Given the description of an element on the screen output the (x, y) to click on. 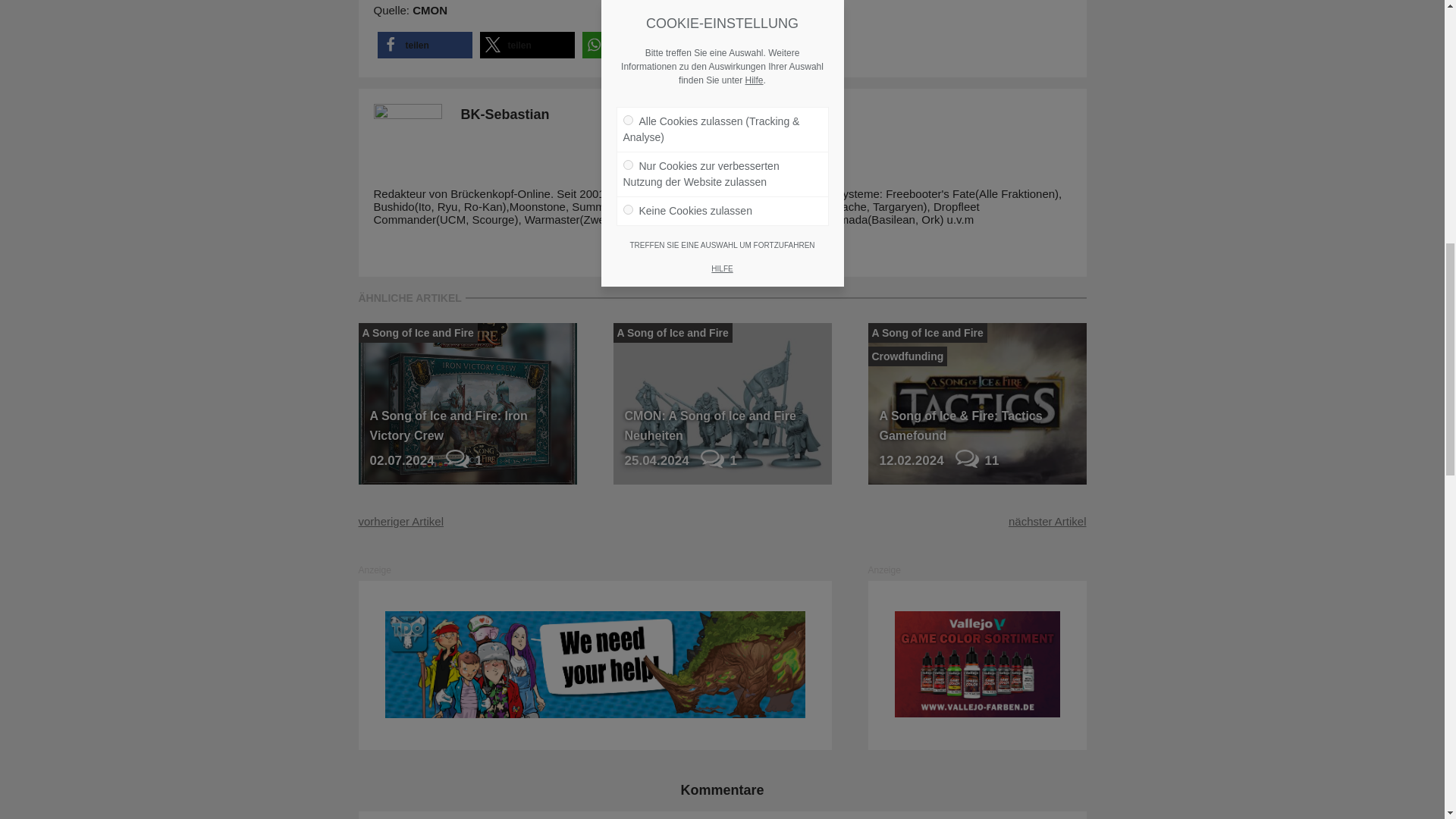
Bei Facebook teilen (424, 44)
Bei X teilen (526, 44)
Weitere Informationen (697, 44)
Bei Whatsapp teilen (629, 44)
